Given the description of an element on the screen output the (x, y) to click on. 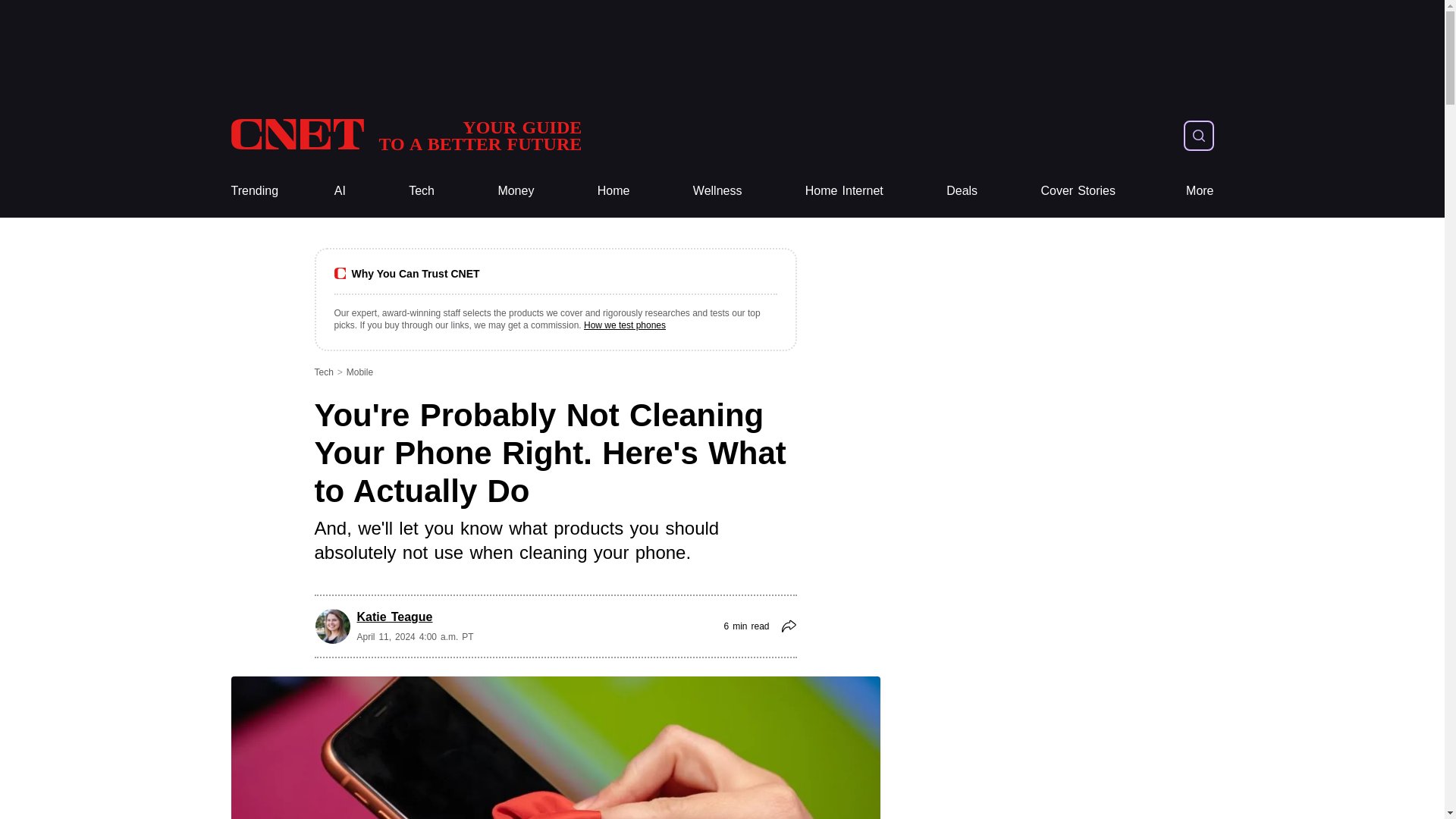
Home (613, 190)
Trending (254, 190)
Cover Stories (1078, 190)
Tech (421, 190)
Home (613, 190)
CNET (405, 135)
Deals (961, 190)
Home Internet (405, 135)
Tech (844, 190)
